Given the description of an element on the screen output the (x, y) to click on. 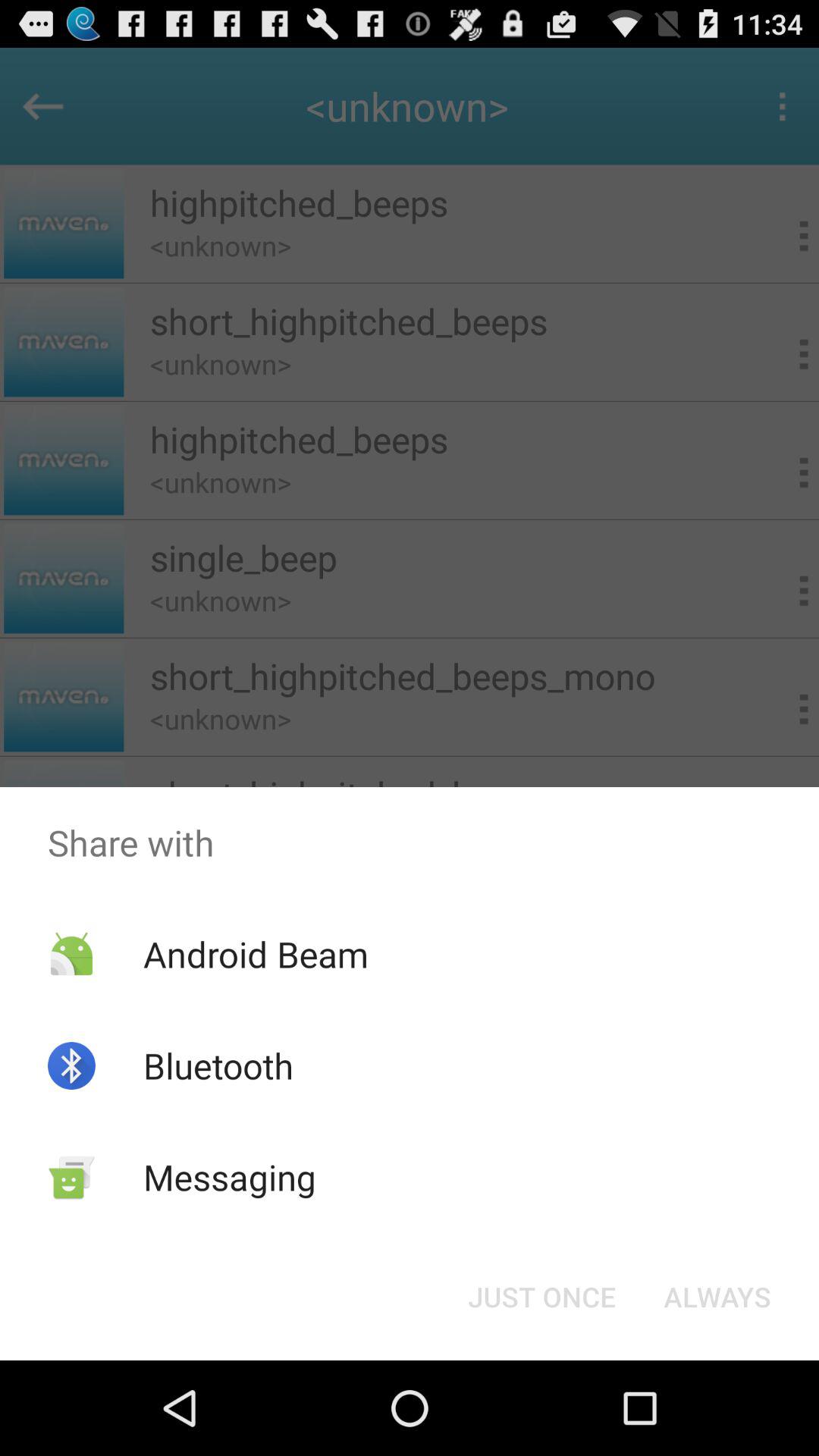
swipe until bluetooth app (218, 1065)
